Given the description of an element on the screen output the (x, y) to click on. 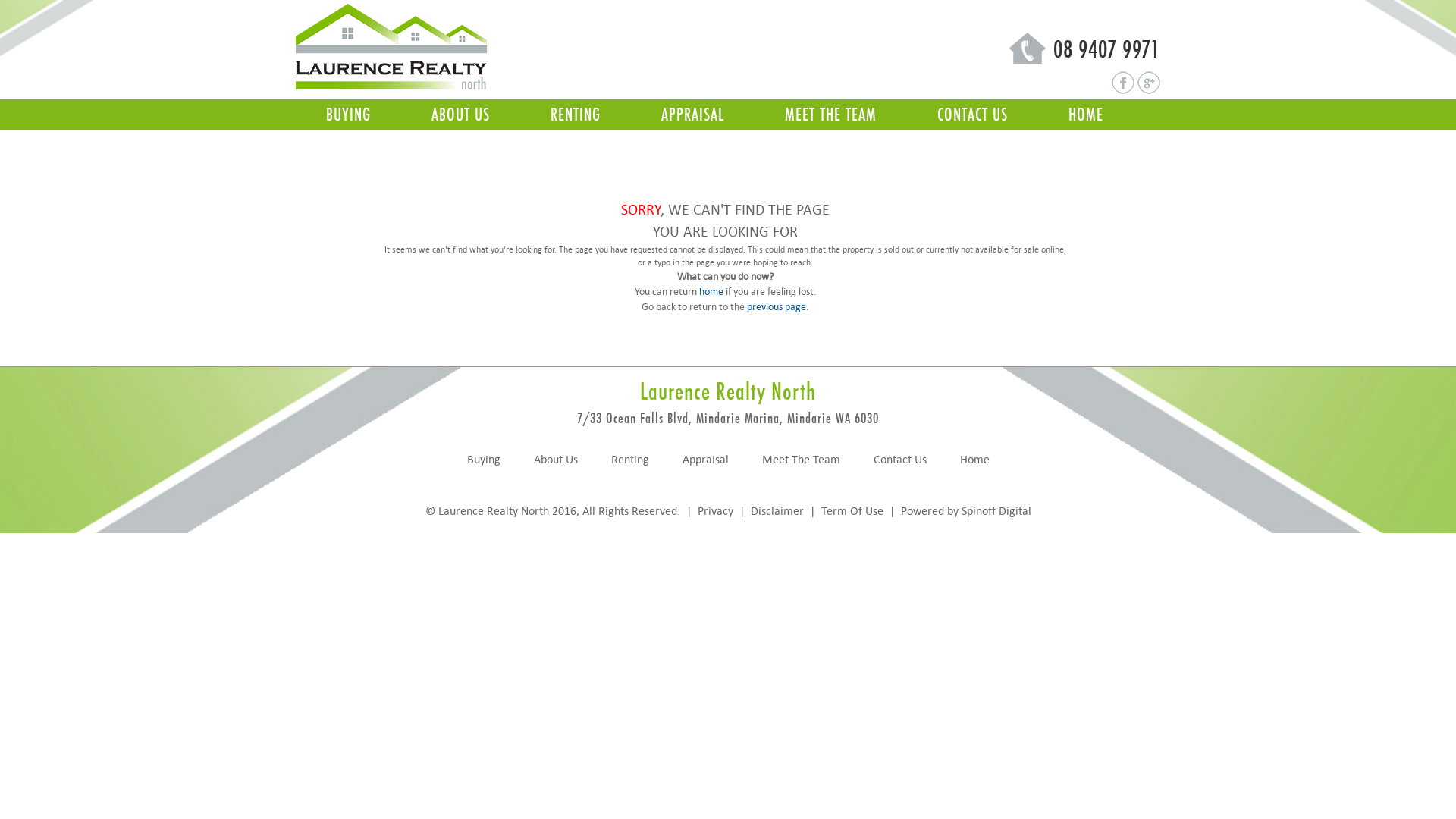
Appraisal Element type: text (705, 458)
RENTING Element type: text (575, 114)
Laurence Real Estate Perth Property Management Element type: hover (1124, 81)
Contact Us Element type: text (899, 458)
BUYING Element type: text (348, 114)
Renting Element type: text (630, 458)
APPRAISAL Element type: text (692, 114)
Disclaimer Element type: text (776, 510)
About Us Element type: text (555, 458)
Laurence Real Estate Perth Property Management Element type: hover (1148, 81)
CONTACT US Element type: text (972, 114)
ABOUT US Element type: text (460, 114)
Buying Element type: text (483, 458)
Meet The Team Element type: text (800, 458)
home Element type: text (711, 291)
MEET THE TEAM Element type: text (830, 114)
previous page Element type: text (776, 306)
Laurence Real Estate Perth Property Management  Element type: hover (391, 44)
Home Element type: text (974, 458)
Term Of Use Element type: text (851, 510)
Privacy Element type: text (716, 510)
08 9407 9971 Element type: text (1027, 46)
HOME Element type: text (1085, 114)
Spinoff Digital Element type: text (996, 510)
